Given the description of an element on the screen output the (x, y) to click on. 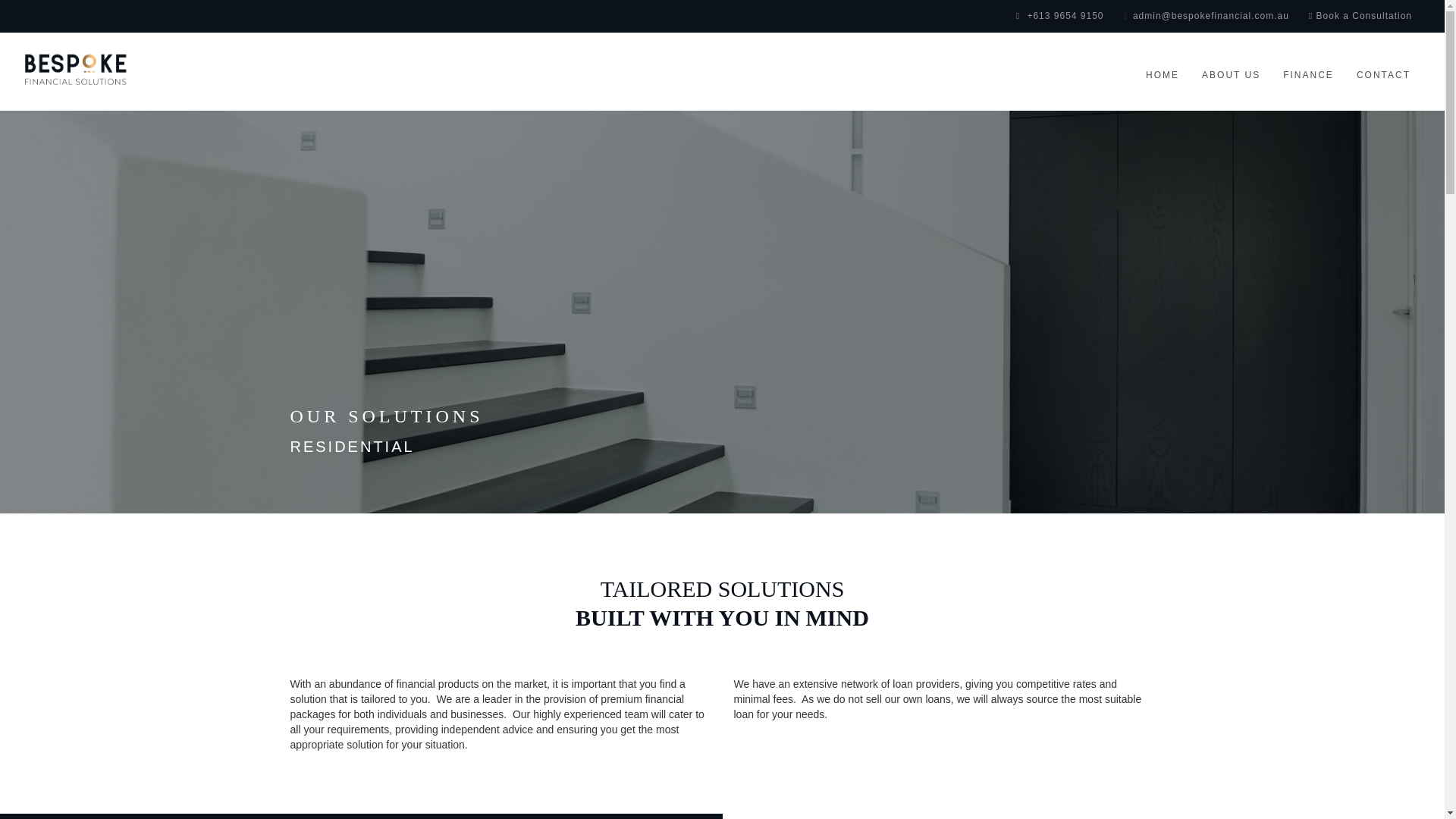
Book a Consultation (1360, 15)
FINANCE (1308, 75)
ABOUT US (1231, 75)
CONTACT (1383, 75)
